Given the description of an element on the screen output the (x, y) to click on. 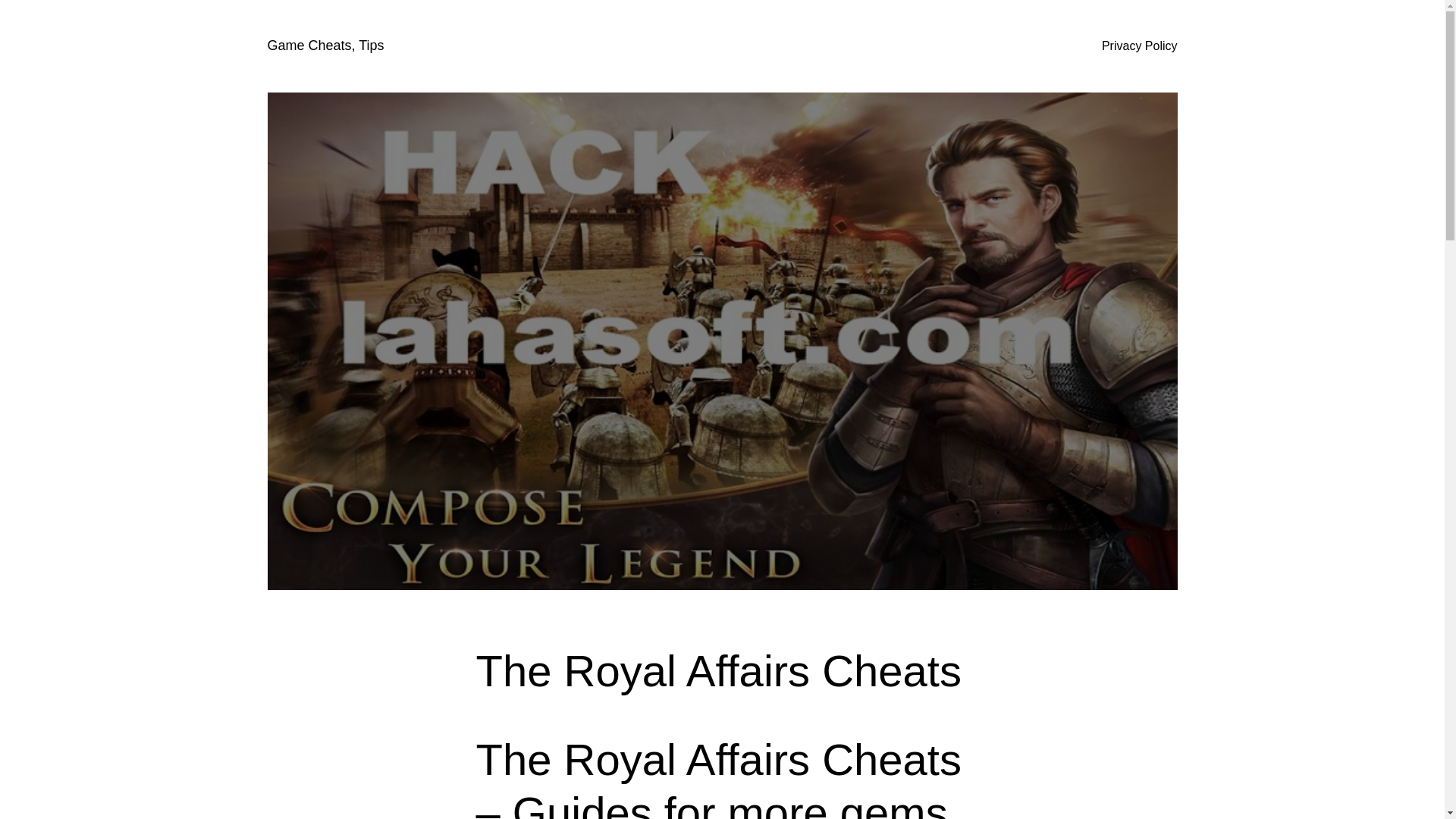
Game Cheats, Tips (325, 45)
Privacy Policy (1139, 46)
